Given the description of an element on the screen output the (x, y) to click on. 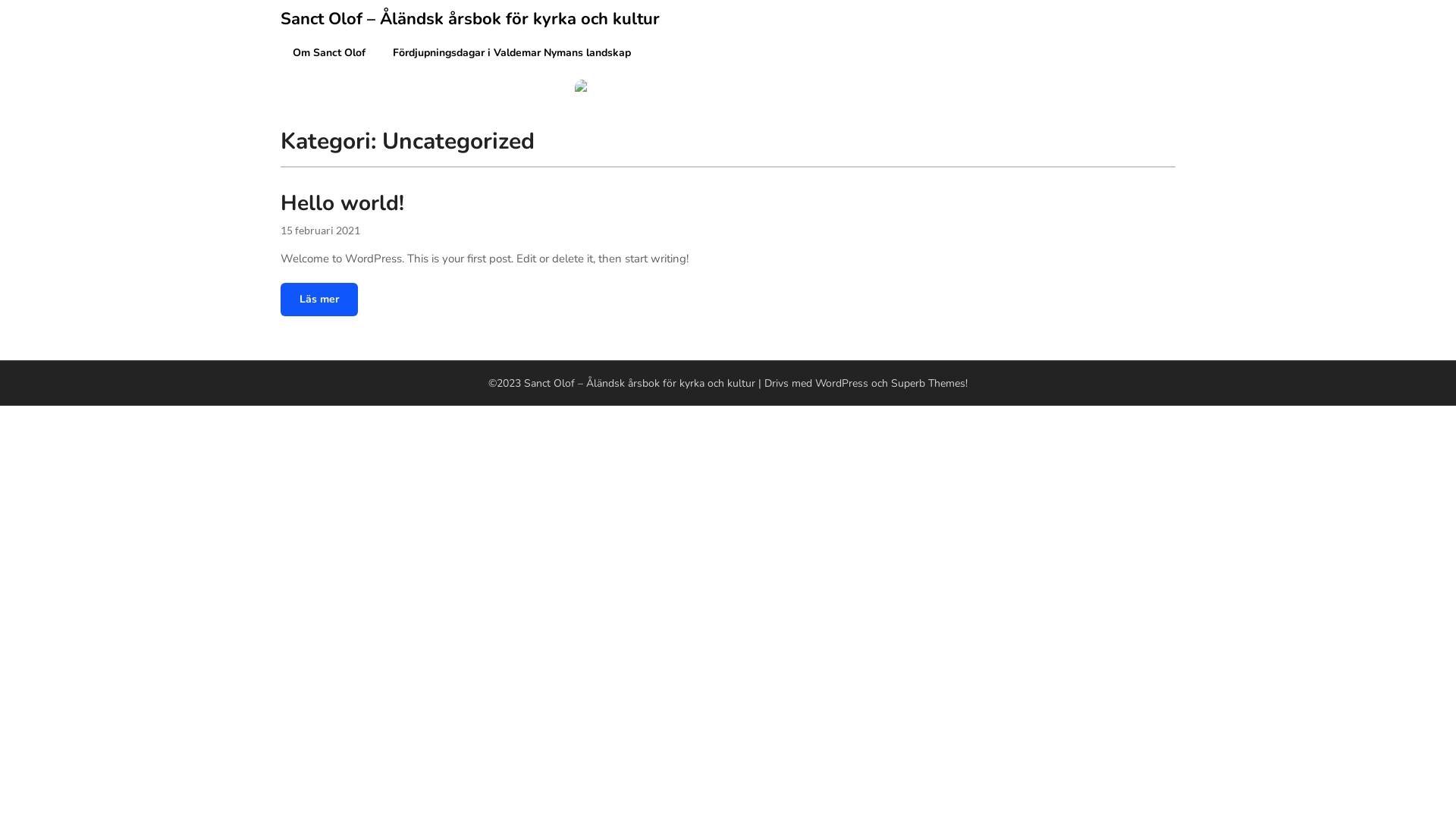
Superb Themes! Element type: text (929, 383)
Om Sanct Olof Element type: text (328, 53)
Hello world! Element type: text (342, 202)
15 februari 2021 Element type: text (320, 229)
